Given the description of an element on the screen output the (x, y) to click on. 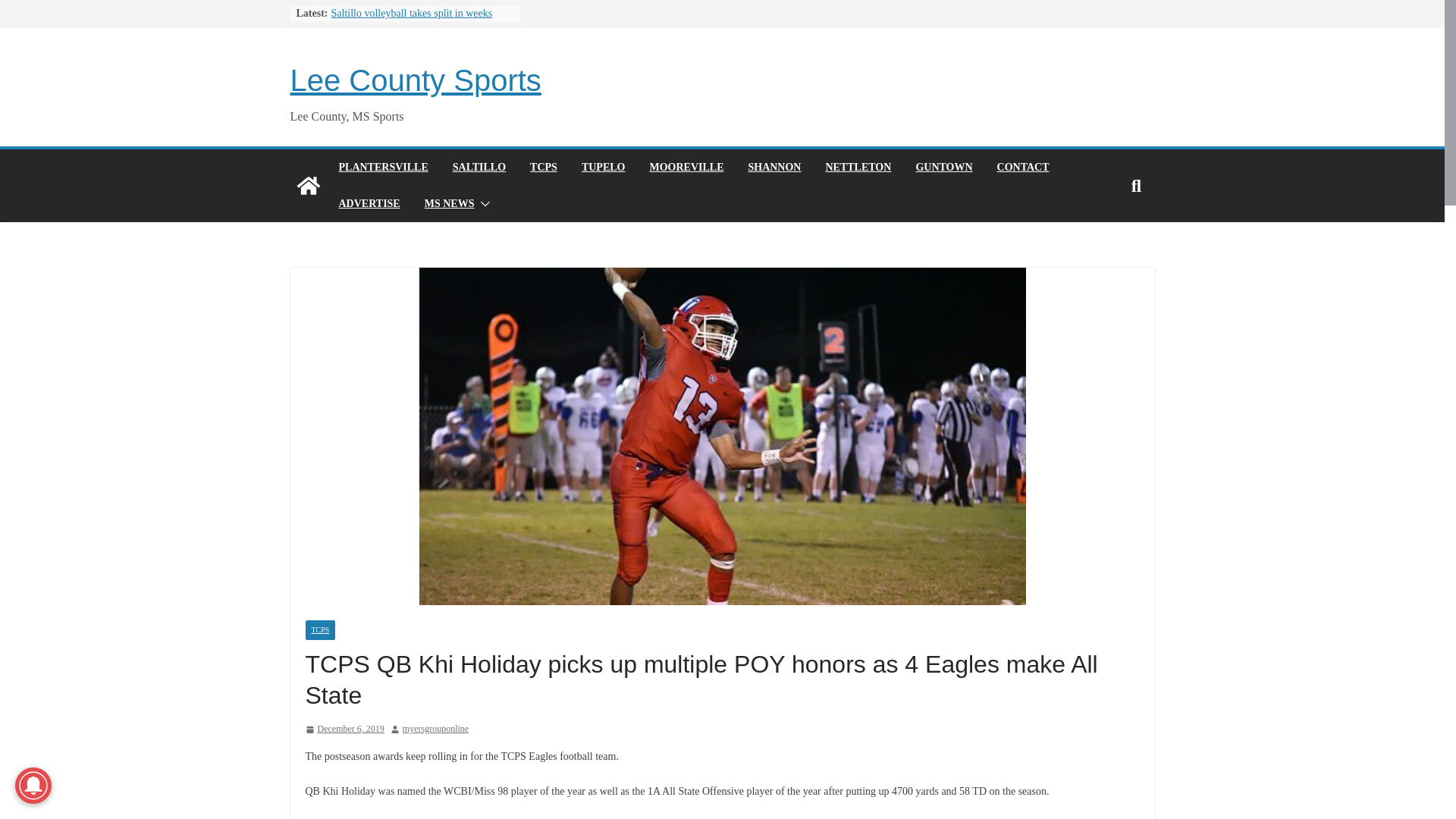
Lee County Sports (307, 185)
Lee County Sports (414, 80)
myersgrouponline (435, 729)
GUNTOWN (943, 167)
MOOREVILLE (686, 167)
MS NEWS (449, 203)
7:43 pm (344, 729)
NETTLETON (858, 167)
SALTILLO (478, 167)
Saltillo volleyball takes split in weeks action (411, 20)
Lee County Sports (414, 80)
PLANTERSVILLE (382, 167)
TCPS (543, 167)
TCPS (319, 629)
myersgrouponline (435, 729)
